Given the description of an element on the screen output the (x, y) to click on. 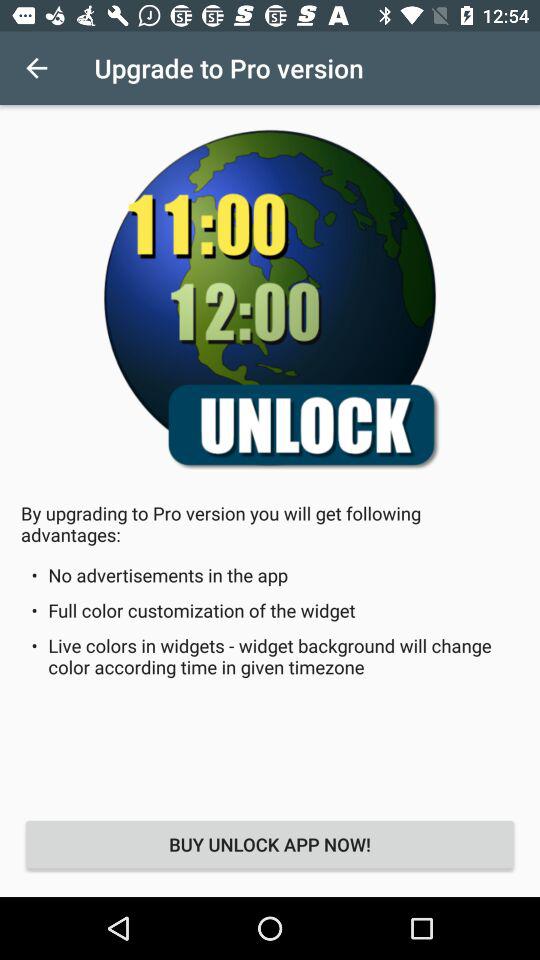
select buy unlock app icon (270, 844)
